Given the description of an element on the screen output the (x, y) to click on. 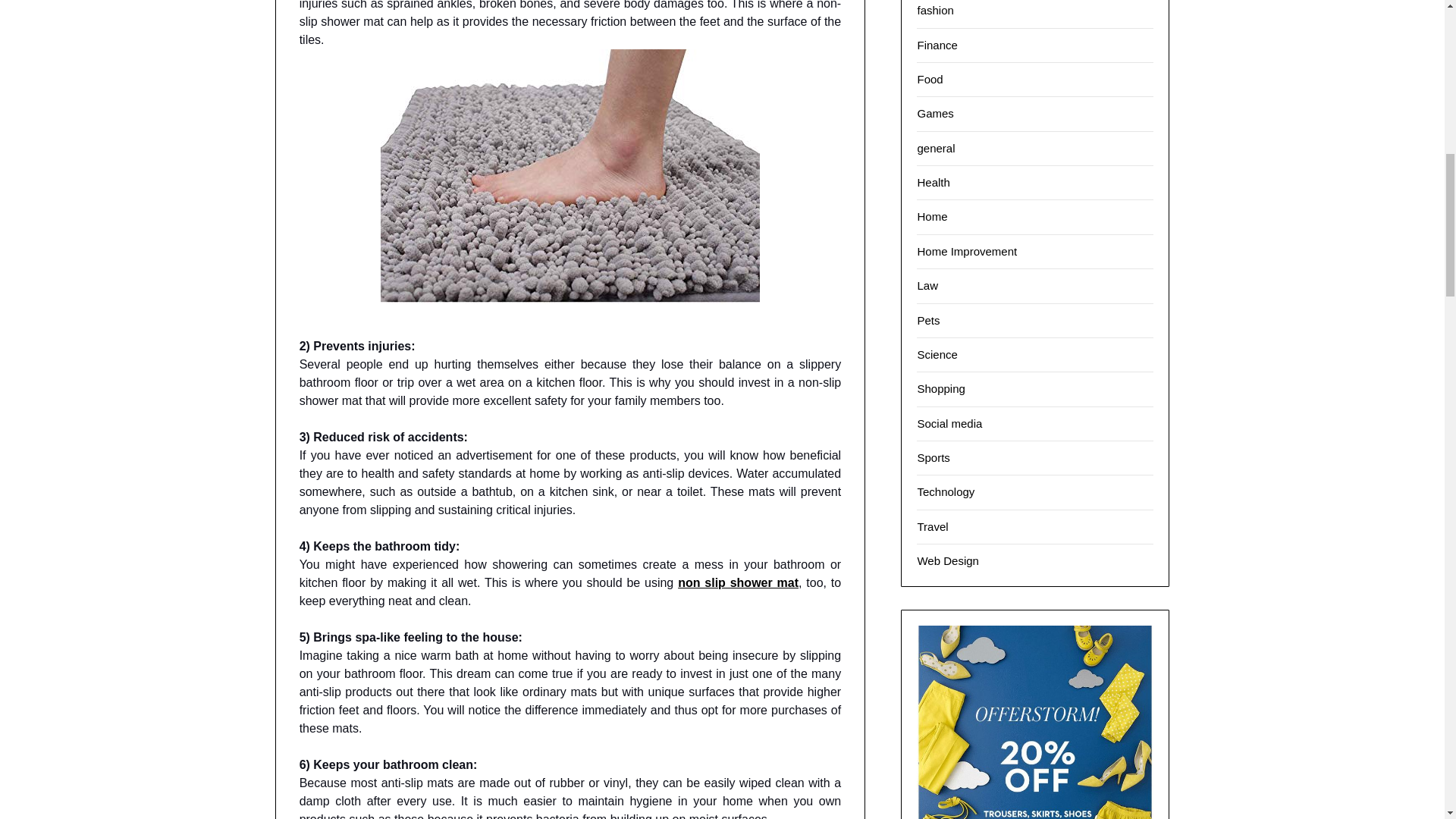
non slip shower mat (737, 582)
general (936, 147)
Shopping (940, 388)
Social media (949, 422)
Pets (928, 319)
Science (936, 354)
Home (932, 215)
Games (935, 113)
Health (933, 182)
Home Improvement (966, 250)
Sports (933, 457)
fashion (935, 10)
Law (927, 285)
Finance (936, 43)
Technology (945, 491)
